Given the description of an element on the screen output the (x, y) to click on. 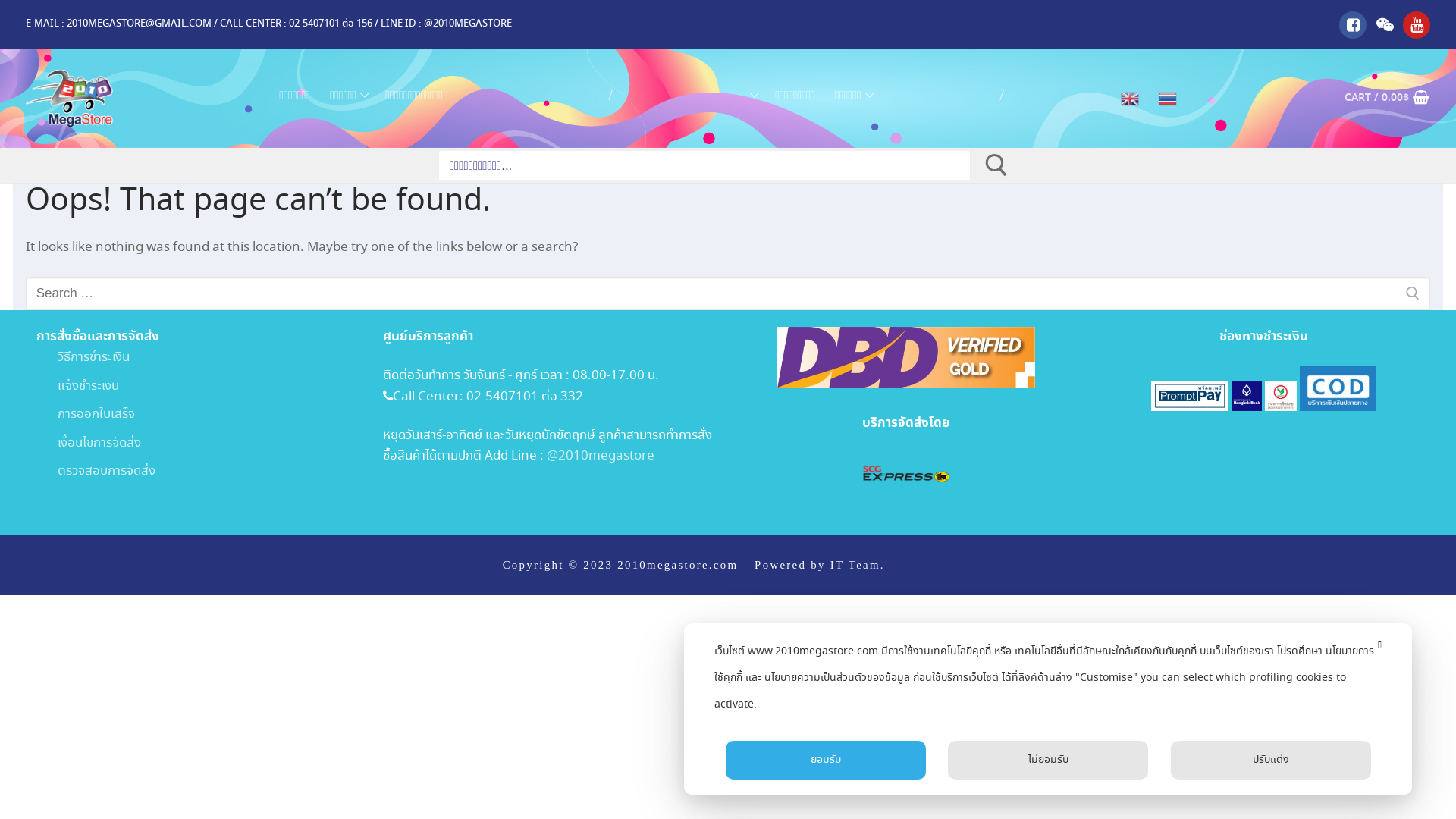
Line Element type: hover (1384, 23)
Thai Element type: hover (1167, 98)
Facebook Element type: hover (1352, 23)
@2010megastore Element type: text (599, 455)
Youtube Element type: hover (1416, 23)
Search for: Element type: hover (704, 166)
Search for: Element type: hover (727, 292)
English Element type: hover (1129, 98)
